Given the description of an element on the screen output the (x, y) to click on. 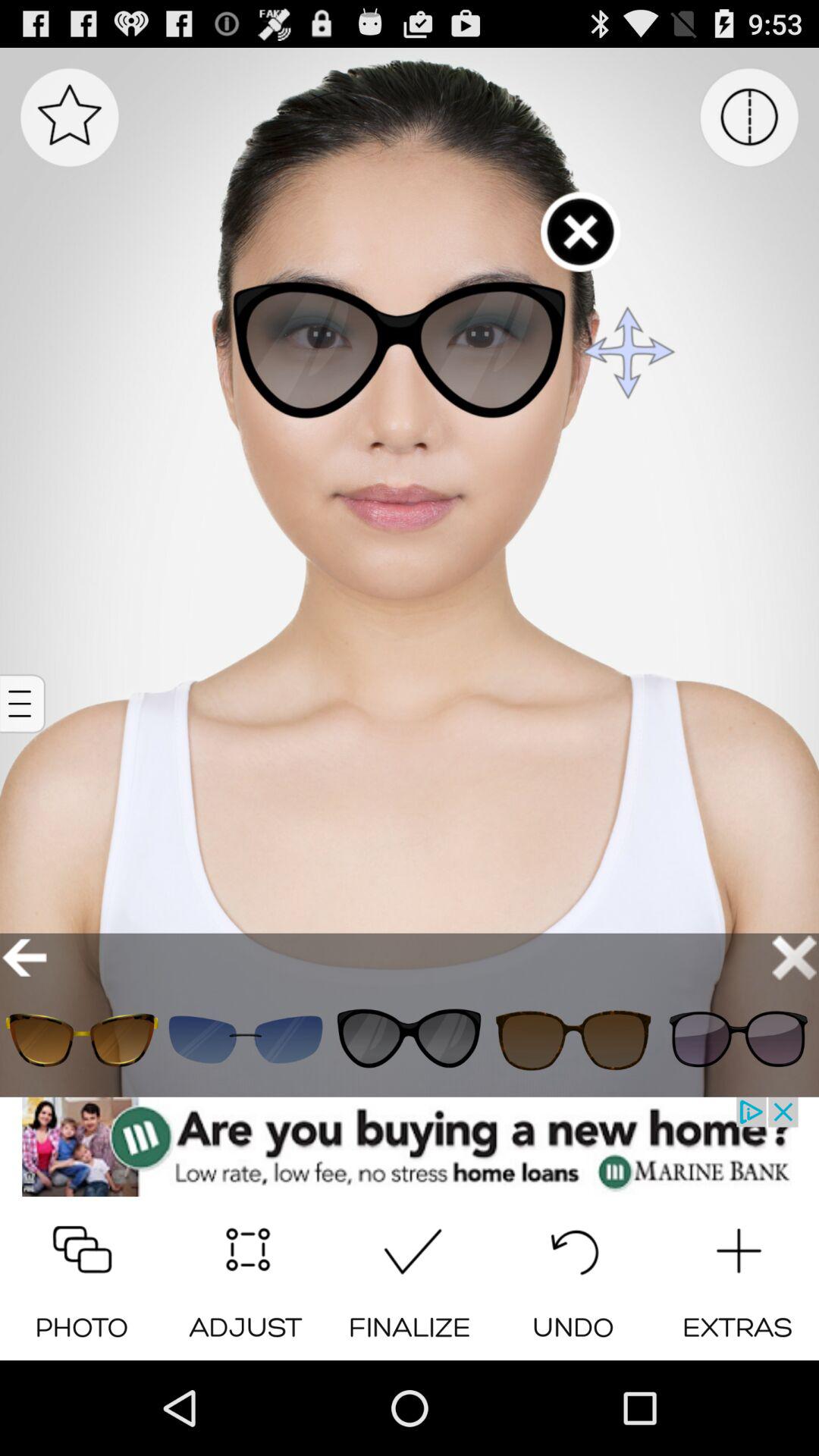
choose a glass button (245, 1039)
